Given the description of an element on the screen output the (x, y) to click on. 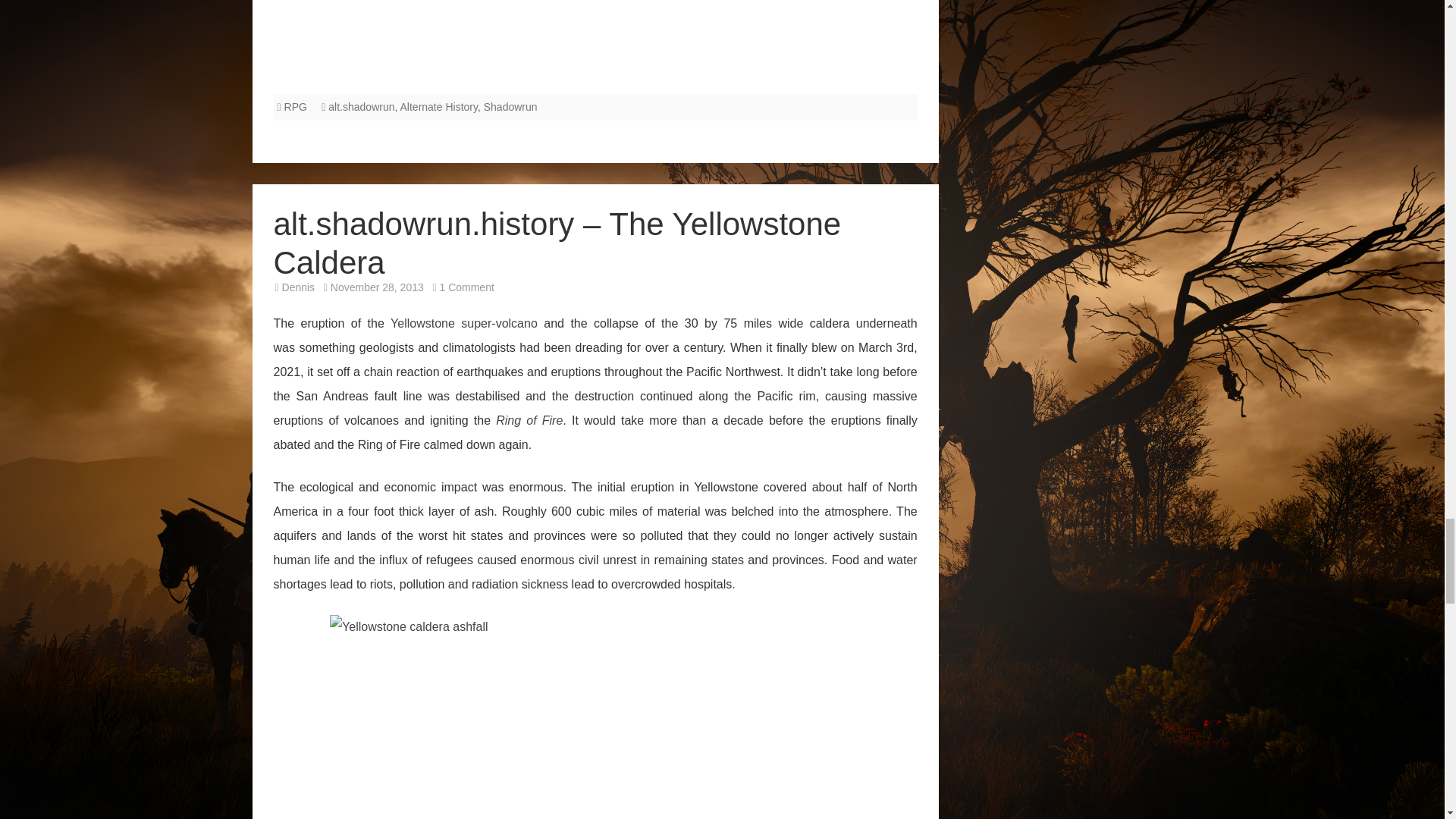
Ring of Fire (529, 420)
Shadowrun (510, 106)
RPG (295, 106)
alt.shadowrun (361, 106)
Yellowstone super-volcano (463, 323)
Alternate History (438, 106)
Dennis (298, 287)
